Given the description of an element on the screen output the (x, y) to click on. 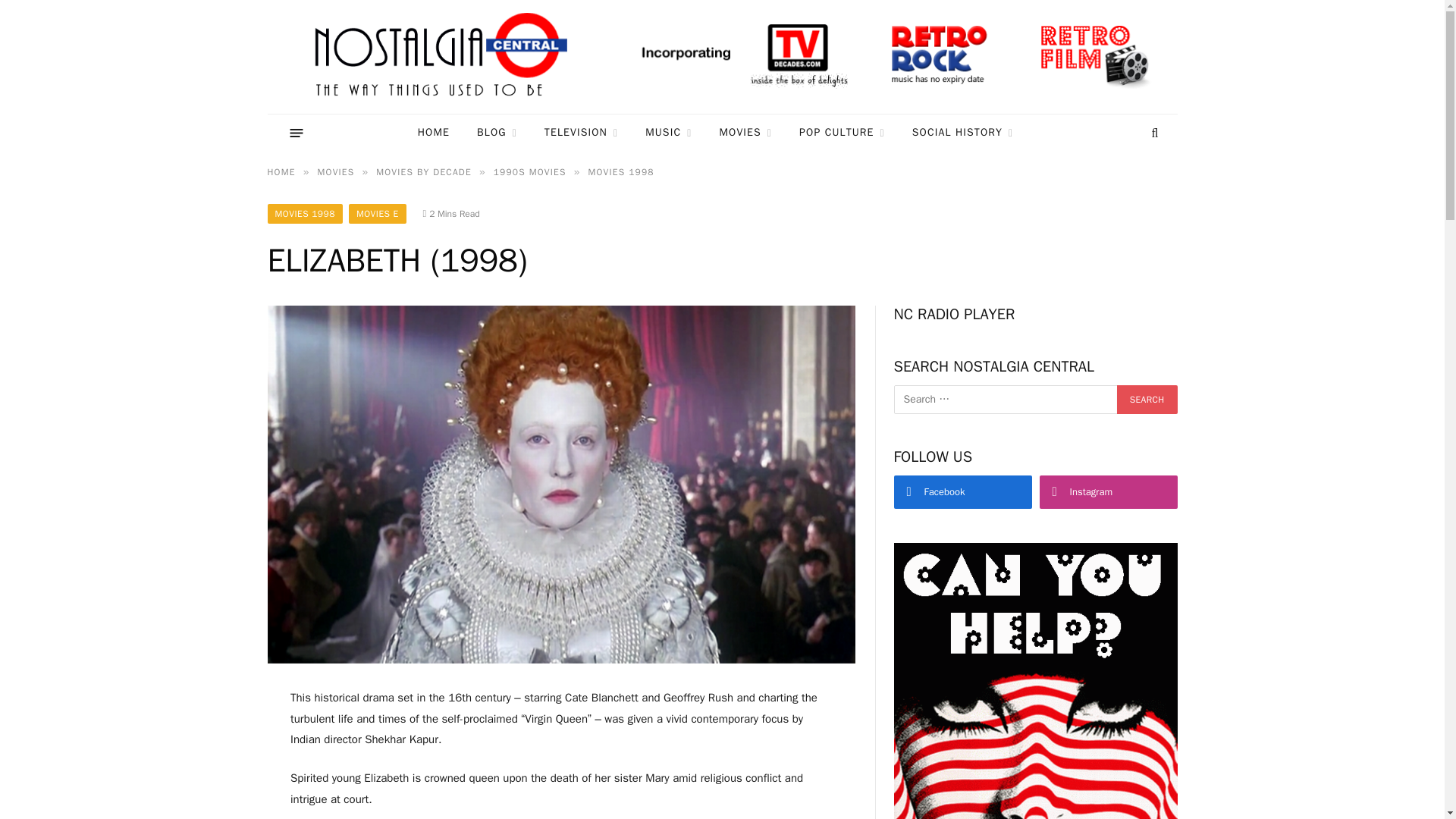
BLOG (497, 132)
Search (1146, 399)
Search (1153, 132)
Search (1146, 399)
Nostalgia Central (444, 56)
TELEVISION (581, 132)
HOME (433, 132)
